Given the description of an element on the screen output the (x, y) to click on. 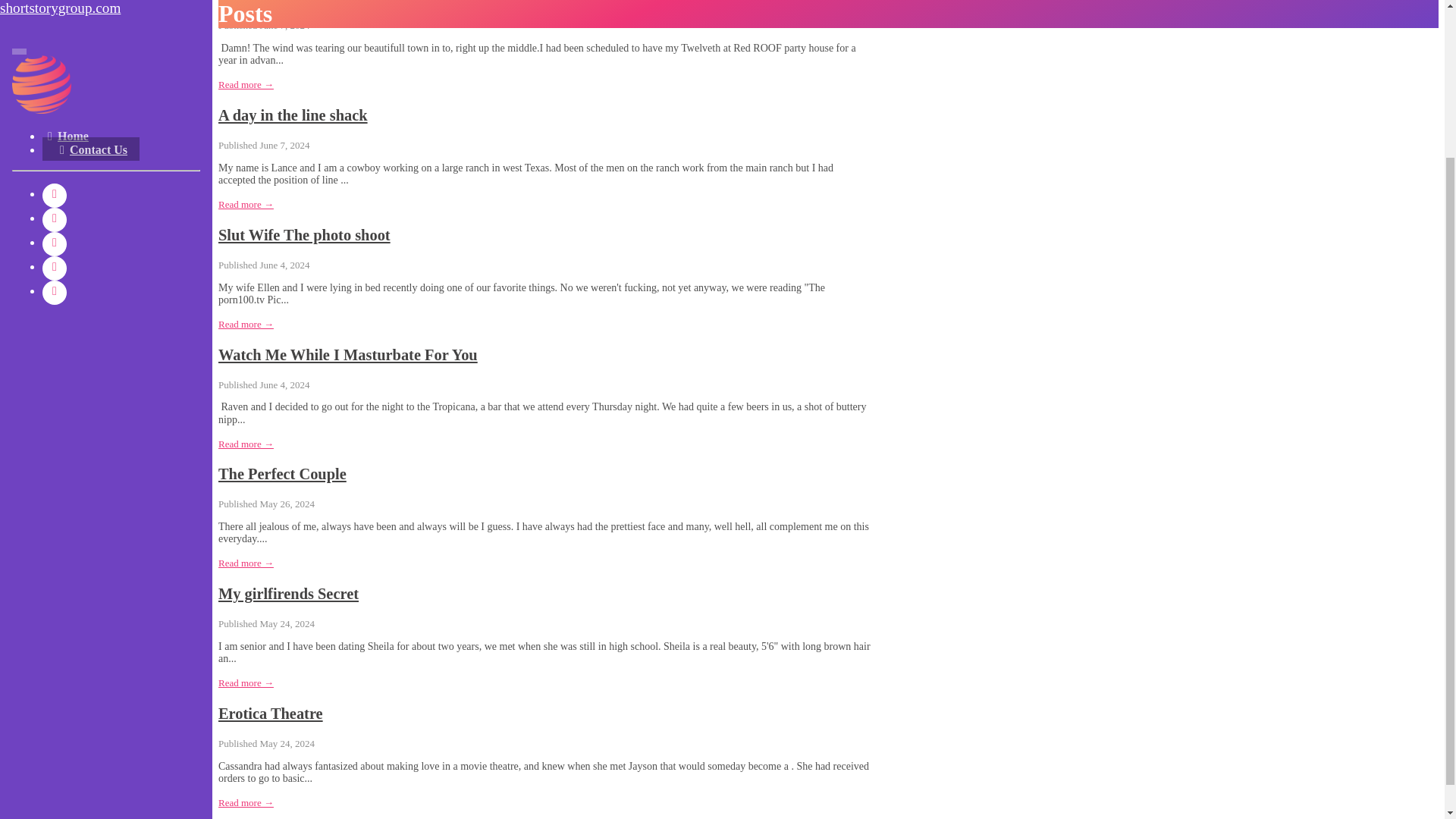
The birds night out (282, 2)
Watch Me While I Masturbate For You (347, 354)
A day in the line shack (293, 115)
Slut Wife The photo shoot (304, 234)
My girlfirends Secret (288, 593)
Erotica Theatre (270, 713)
The Perfect Couple (282, 474)
